Given the description of an element on the screen output the (x, y) to click on. 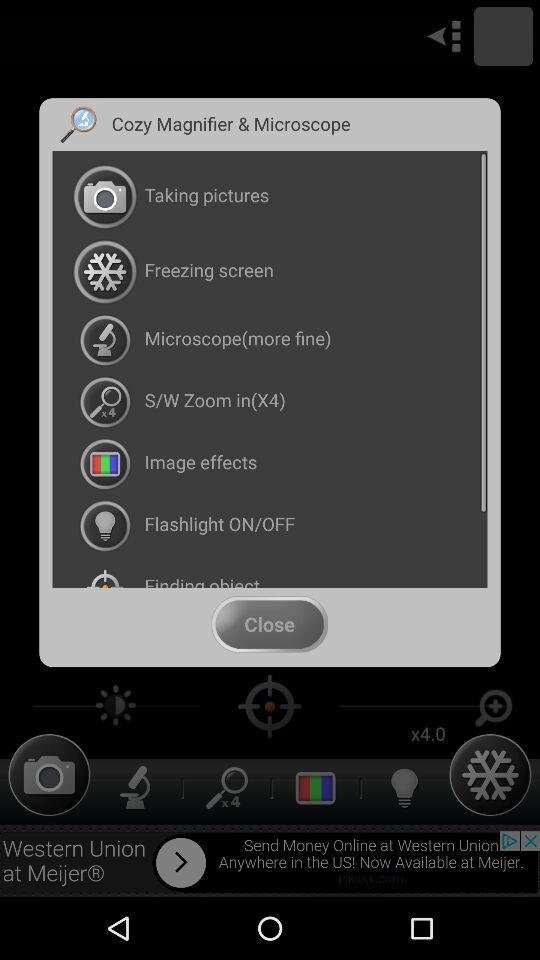
press the app below finding object item (269, 623)
